Given the description of an element on the screen output the (x, y) to click on. 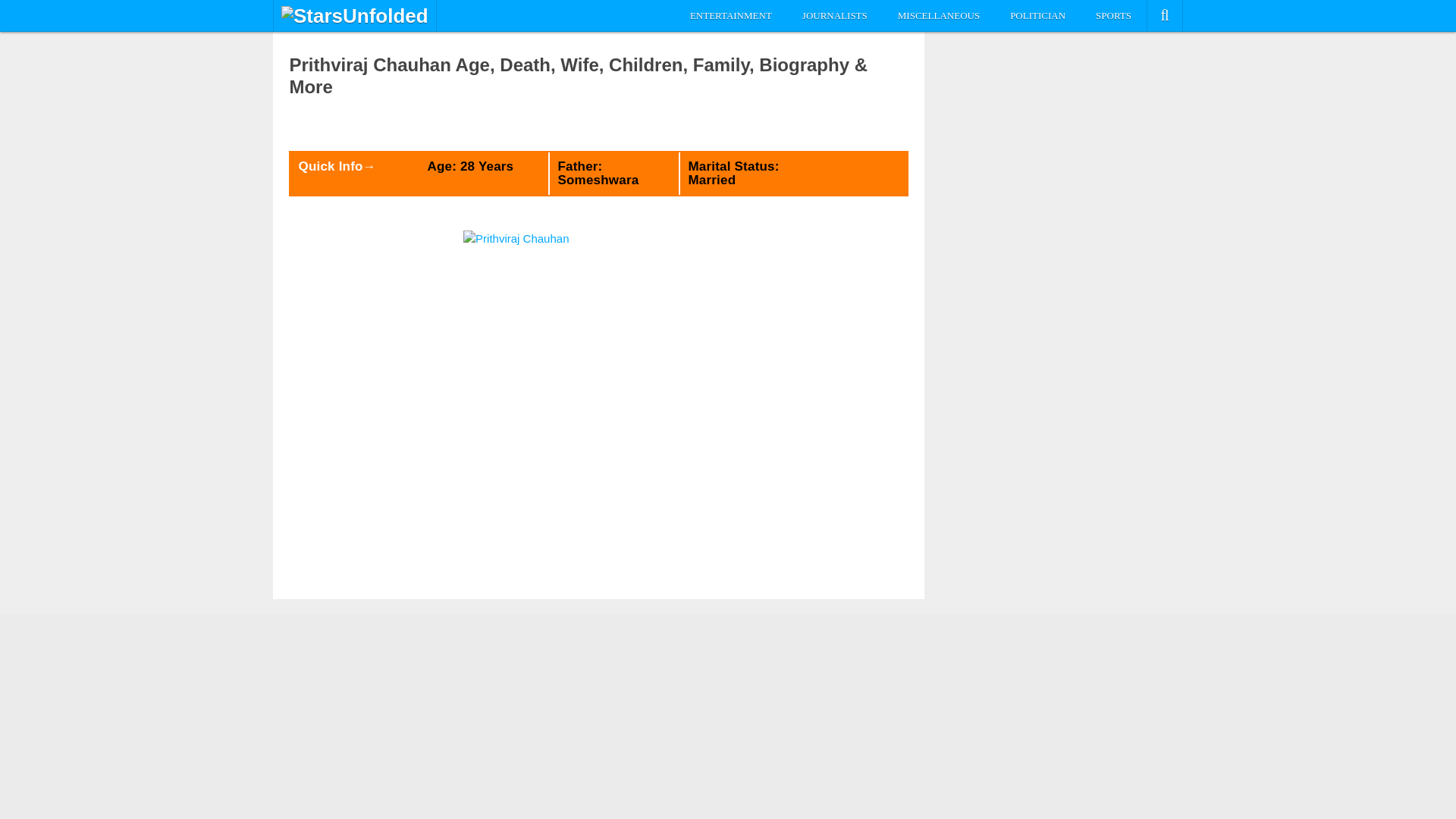
JOURNALISTS (834, 15)
ENTERTAINMENT (731, 15)
MISCELLANEOUS (938, 15)
SPORTS (1113, 15)
POLITICIAN (1037, 15)
